Given the description of an element on the screen output the (x, y) to click on. 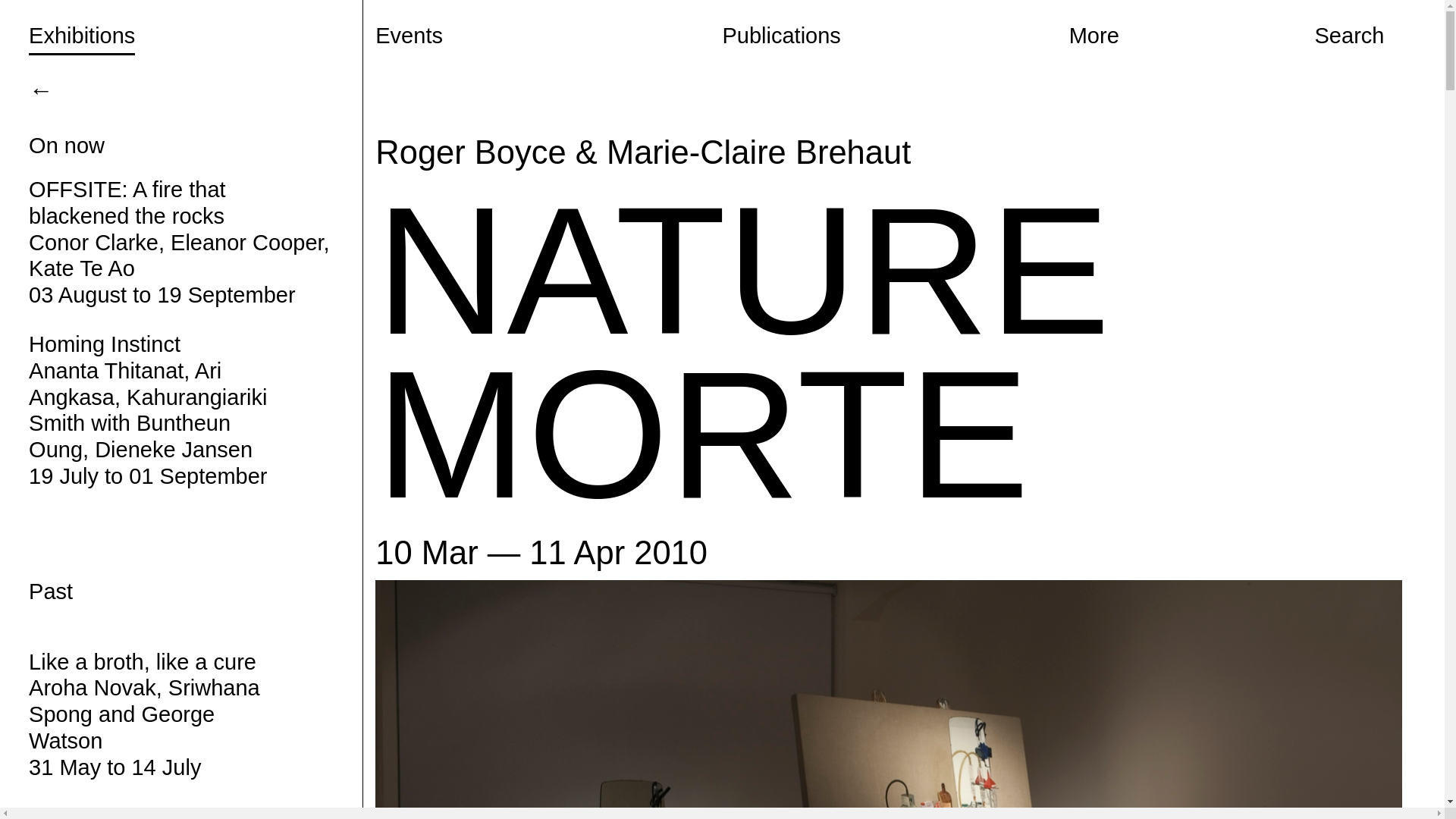
Exhibitions (202, 69)
